Given the description of an element on the screen output the (x, y) to click on. 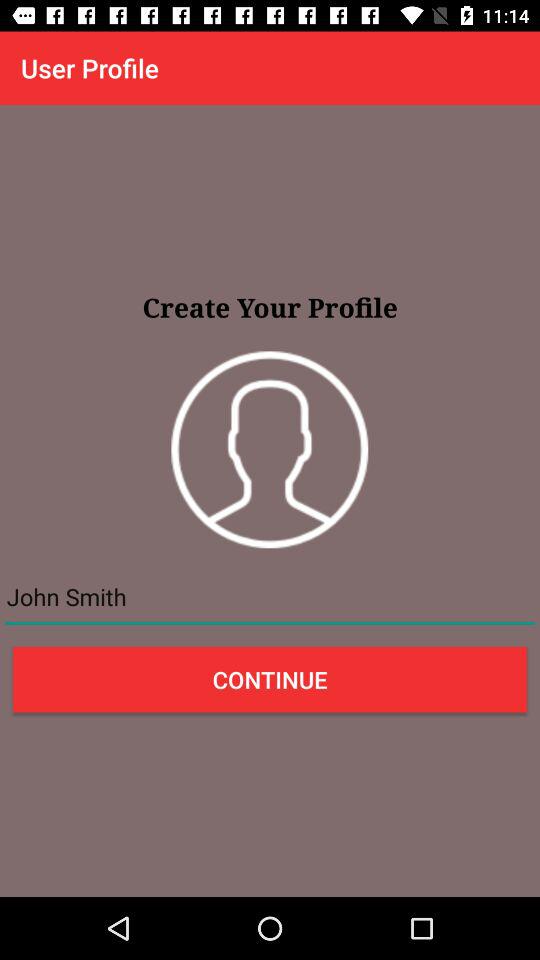
flip until the continue icon (269, 679)
